Given the description of an element on the screen output the (x, y) to click on. 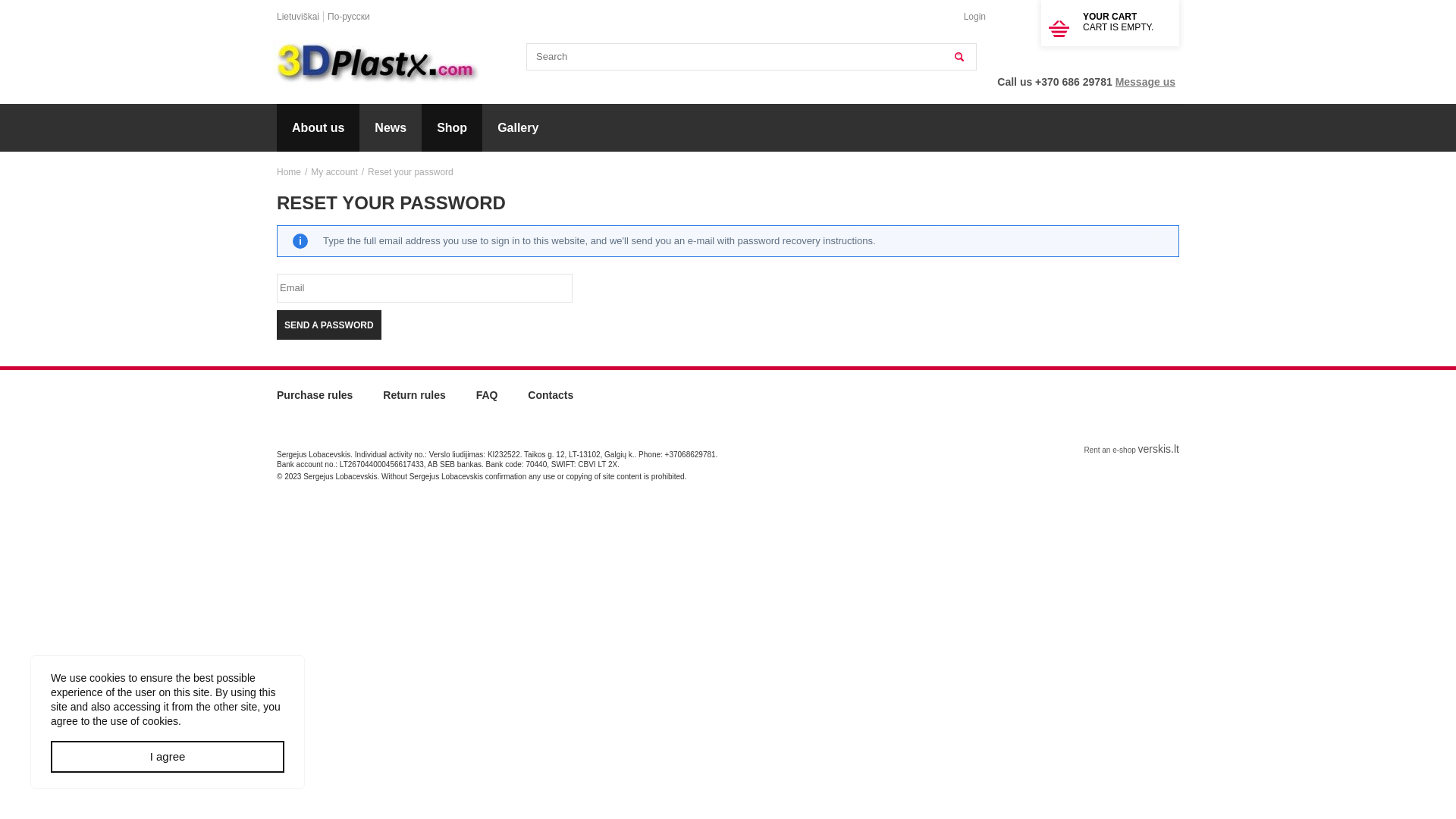
Contacts Element type: text (550, 400)
3DPlastx shop Element type: hover (378, 63)
Message us Element type: text (1145, 81)
Login Element type: text (974, 16)
verskis.lt Element type: text (1158, 448)
I agree Element type: text (167, 756)
Home Element type: text (288, 171)
Purchase rules Element type: text (314, 400)
Rent an e-shop Element type: text (1109, 449)
Return rules Element type: text (413, 400)
News Element type: text (390, 127)
FAQ Element type: text (487, 400)
My account Element type: text (333, 171)
SEND A PASSWORD
  Element type: text (328, 324)
Shop Element type: text (451, 127)
3DPlastx shop Element type: hover (378, 64)
Gallery Element type: text (517, 127)
About us Element type: text (317, 127)
YOUR CART Element type: text (1109, 16)
